Given the description of an element on the screen output the (x, y) to click on. 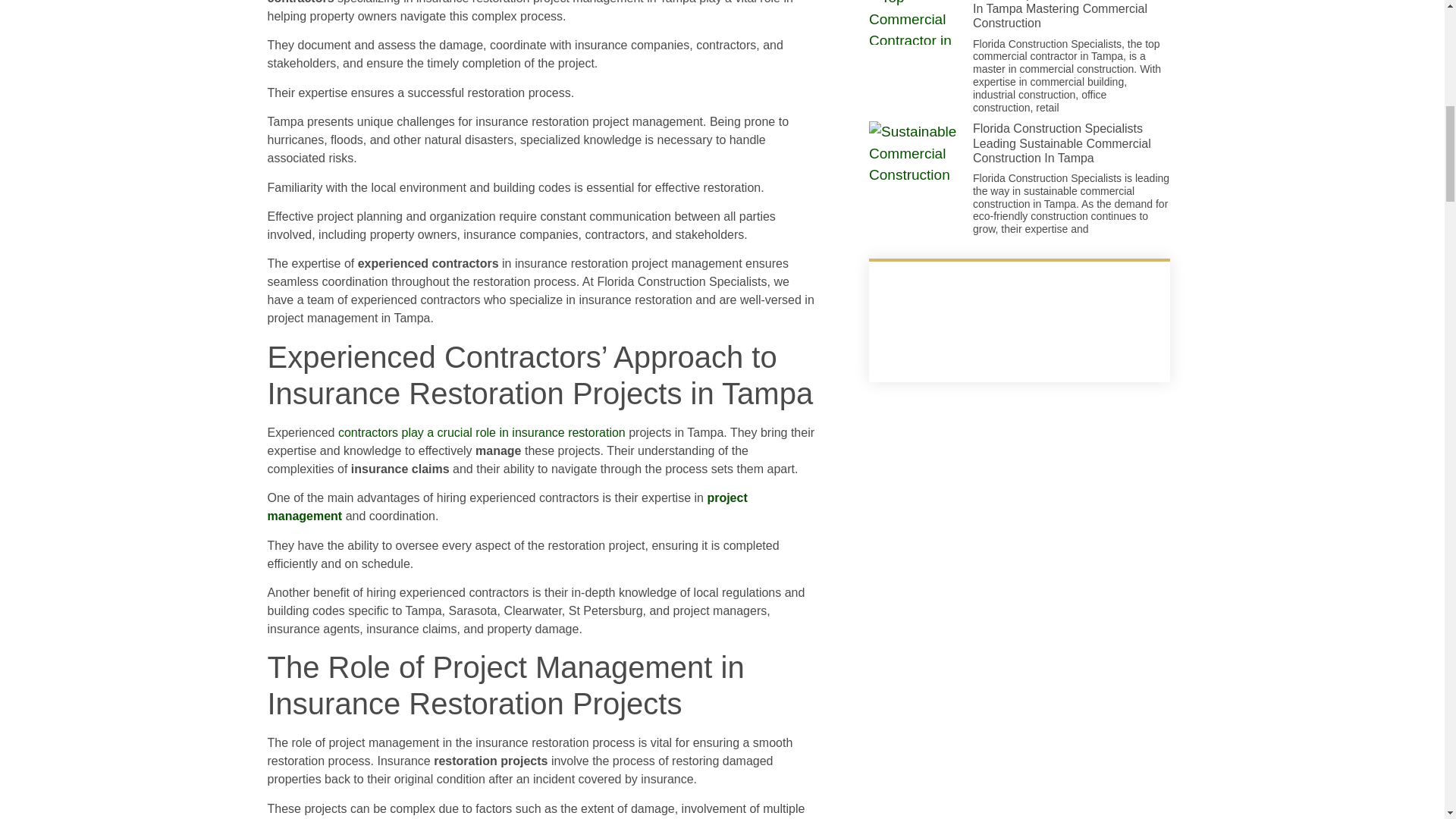
Contact Us (1019, 321)
